Given the description of an element on the screen output the (x, y) to click on. 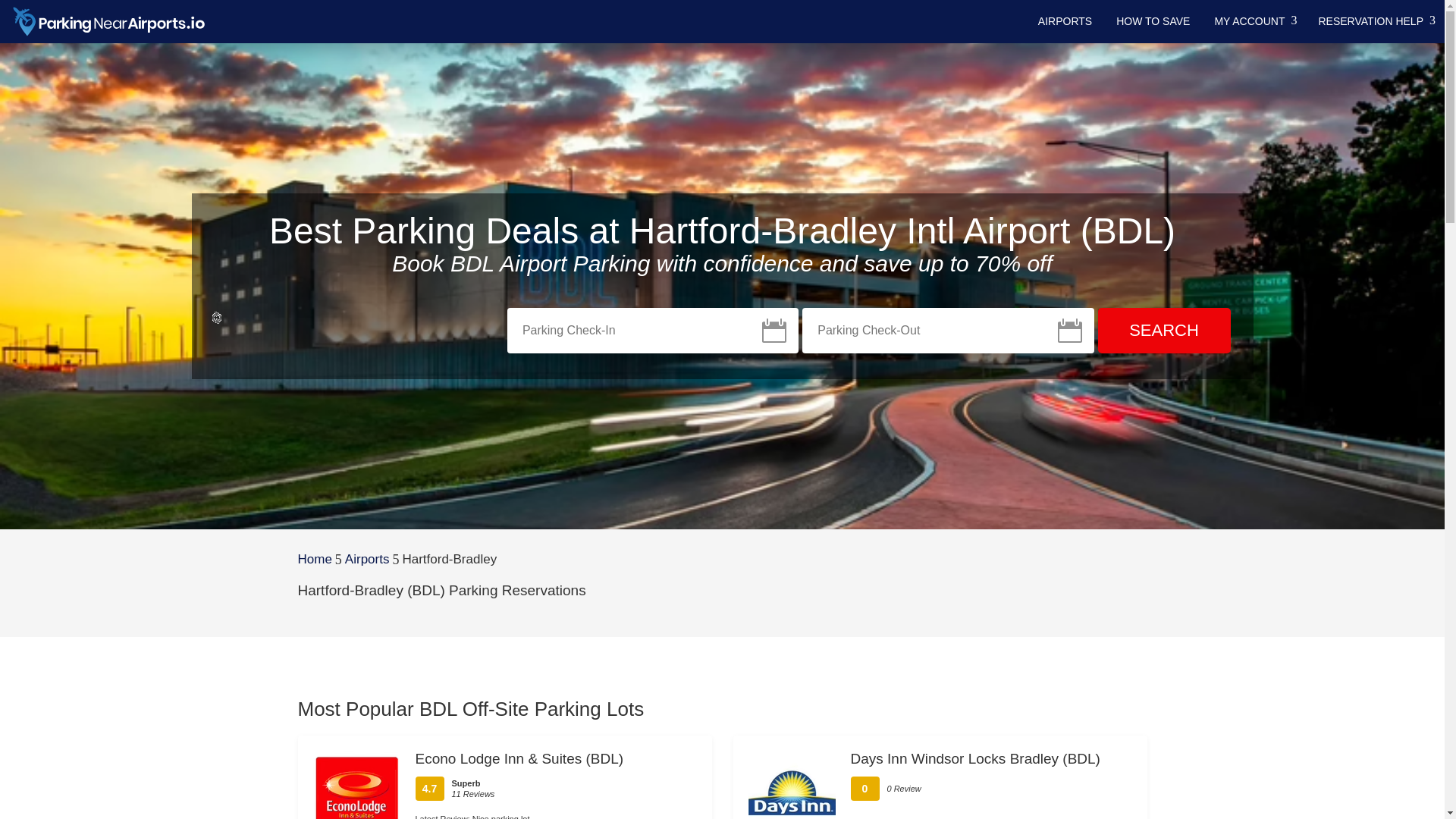
HOW TO SAVE (1152, 21)
RESERVATION HELP (1375, 21)
Airports (367, 559)
MY ACCOUNT (1254, 21)
Search (1163, 329)
Search (1163, 329)
Search (1163, 329)
Home (314, 559)
AIRPORTS (1064, 21)
